Given the description of an element on the screen output the (x, y) to click on. 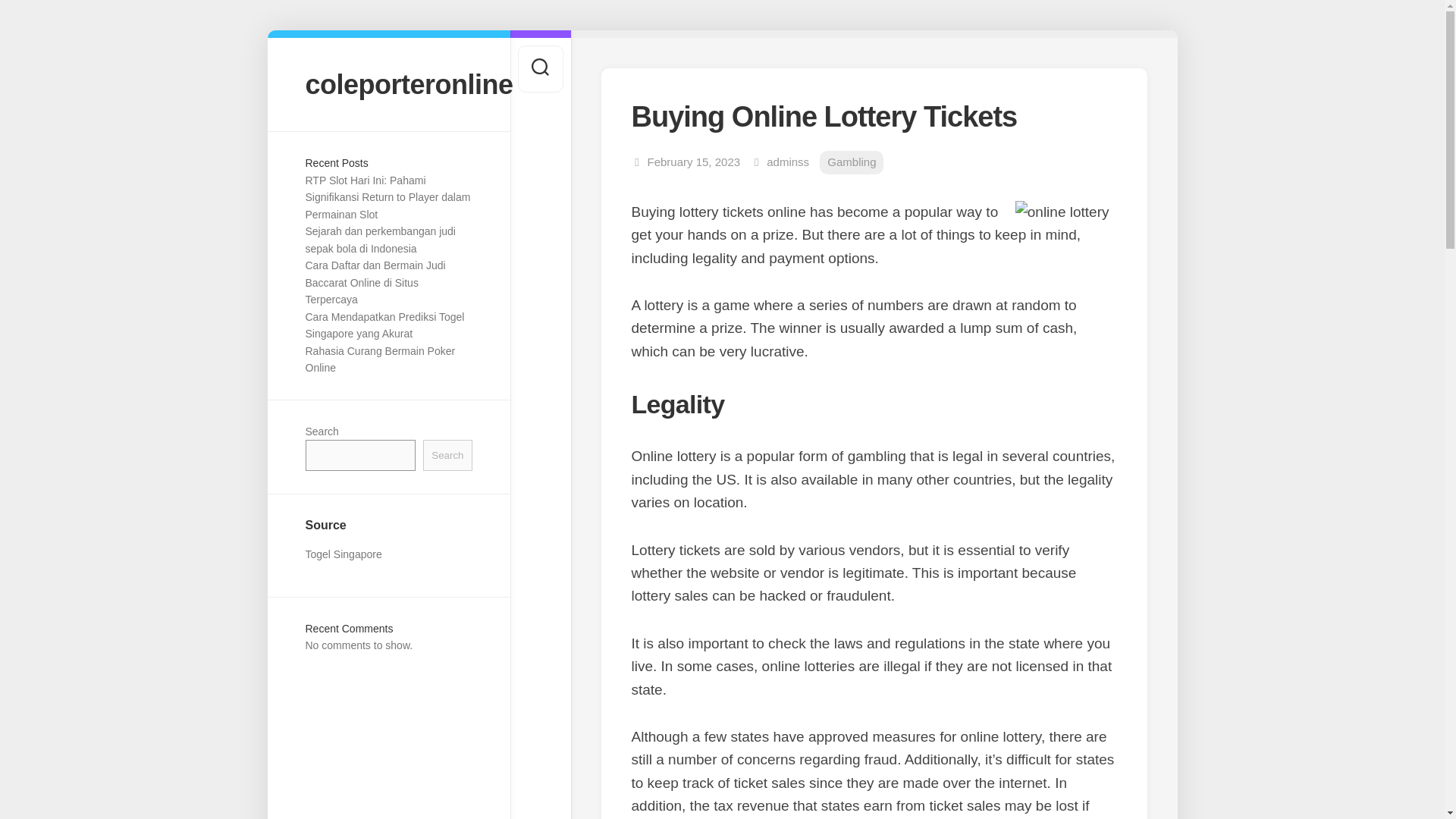
Rahasia Curang Bermain Poker Online (379, 359)
Posts by adminss (788, 161)
Cara Mendapatkan Prediksi Togel Singapore yang Akurat (384, 325)
Gambling (851, 162)
Search (447, 454)
Togel Singapore (342, 553)
adminss (788, 161)
coleporteronline (387, 83)
Sejarah dan perkembangan judi sepak bola di Indonesia (379, 239)
